Given the description of an element on the screen output the (x, y) to click on. 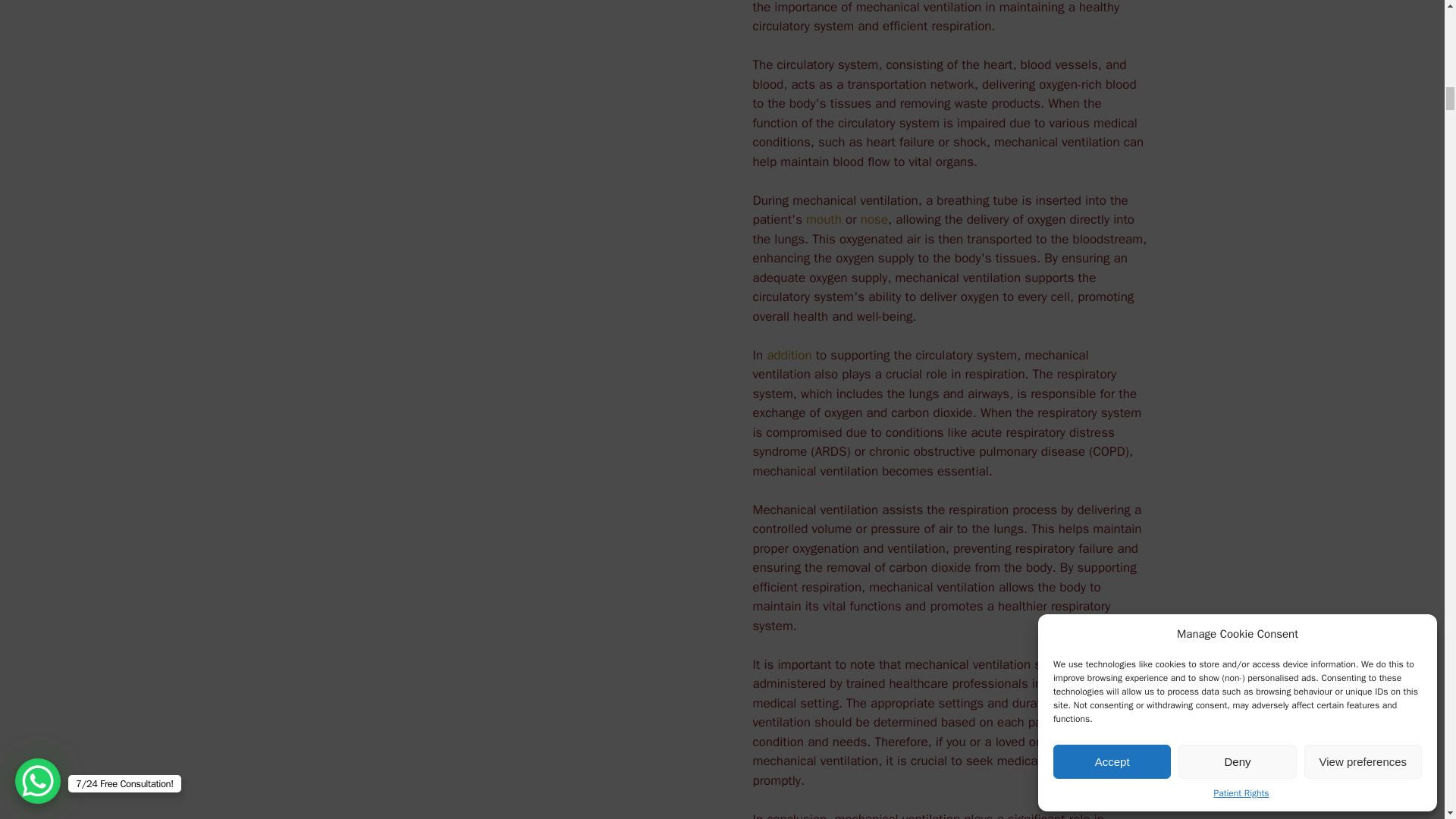
nose (874, 219)
